Given the description of an element on the screen output the (x, y) to click on. 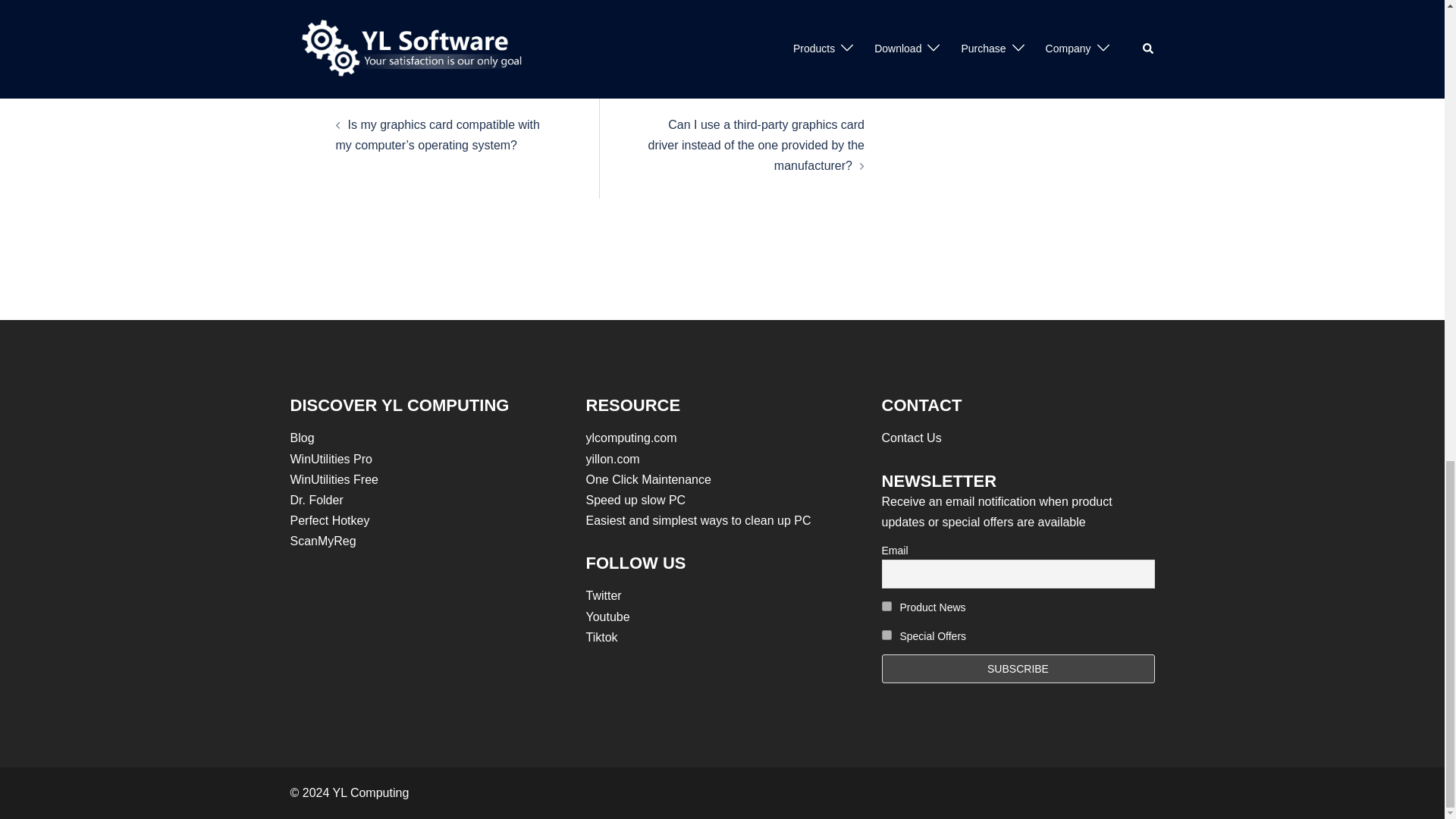
2 (885, 634)
1 (885, 605)
Subscribe (1017, 668)
